Given the description of an element on the screen output the (x, y) to click on. 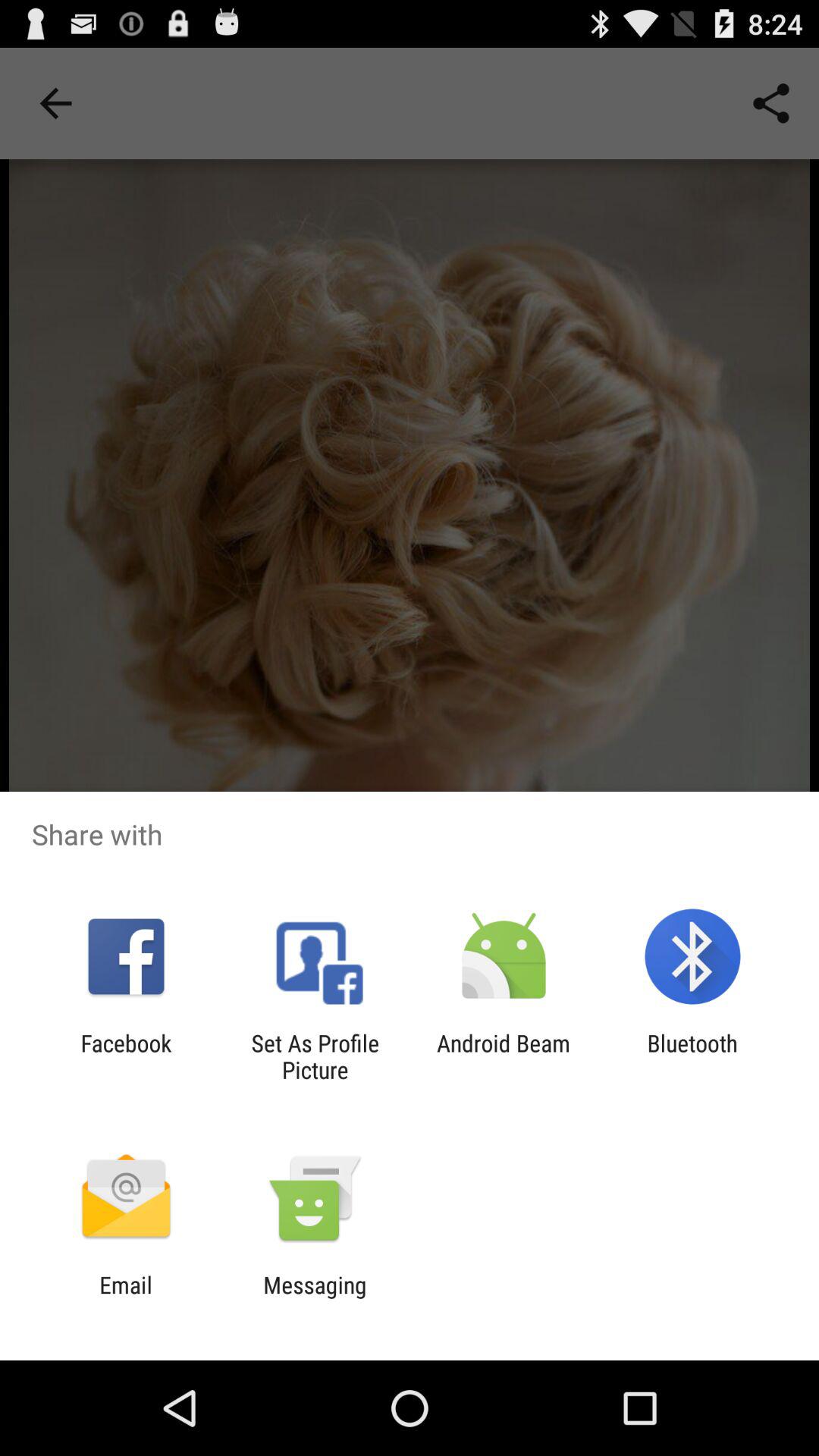
open the item to the right of the email app (314, 1298)
